Given the description of an element on the screen output the (x, y) to click on. 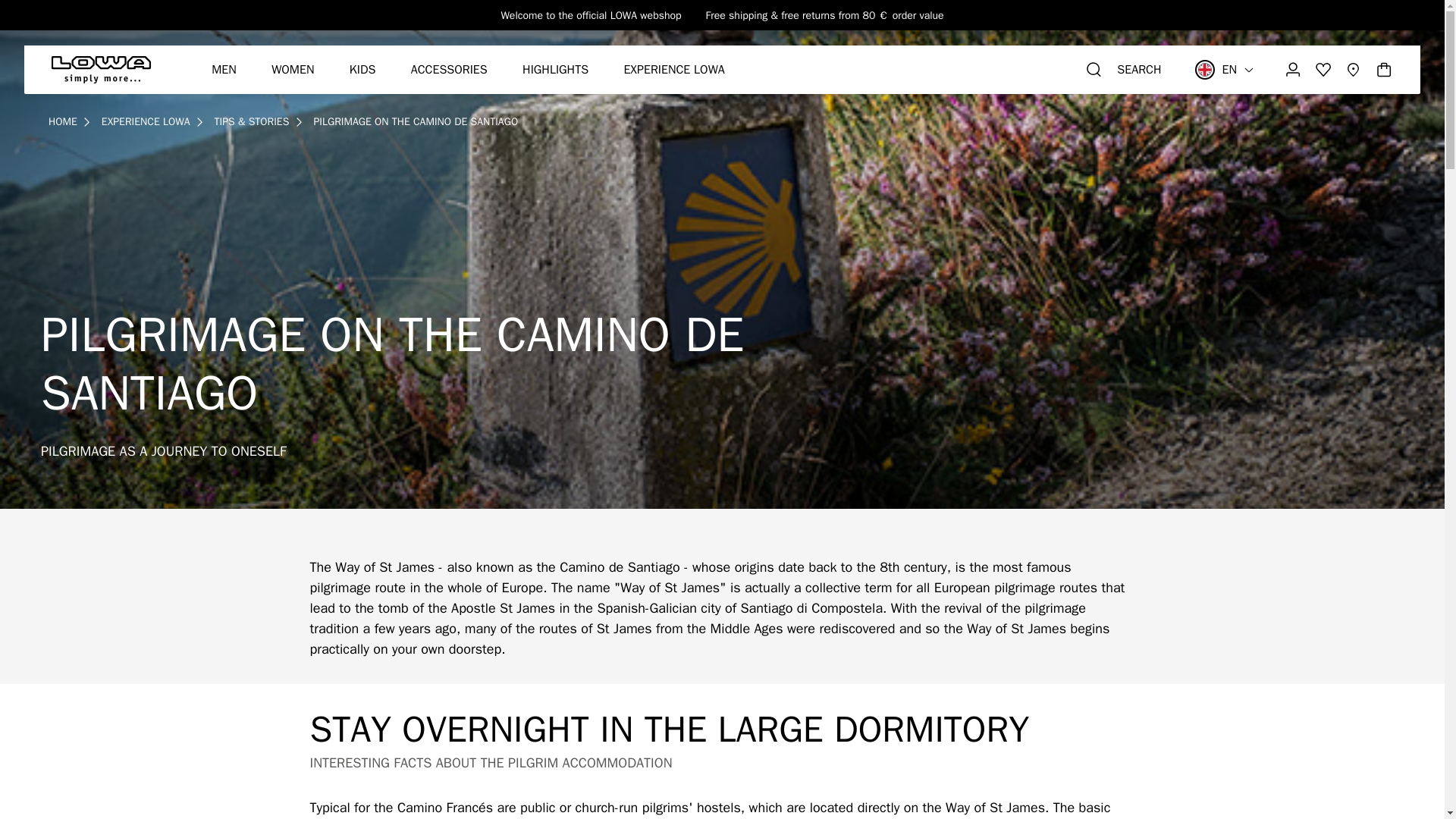
Go to Home Page (62, 121)
MEN (223, 69)
WOMEN (293, 69)
KIDS (362, 69)
ACCESSORIES (449, 69)
